Given the description of an element on the screen output the (x, y) to click on. 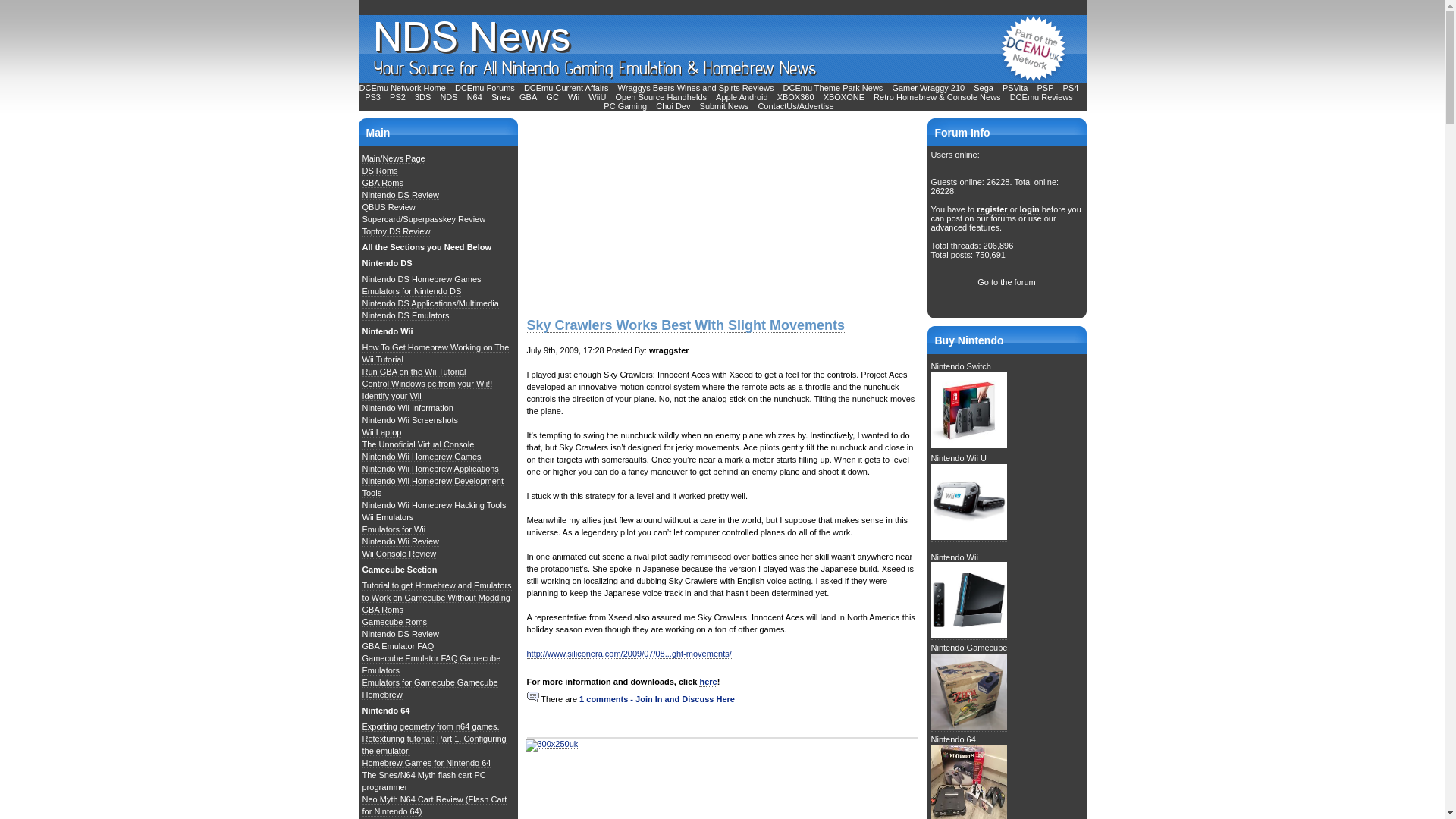
GBA (528, 97)
Nintendo DS Review (400, 194)
NDS (448, 97)
DCEmu Current Affairs (567, 88)
PC Gaming (625, 106)
Chui Dev (673, 106)
WiiU (596, 97)
Wraggys Beers Wines and Spirts Reviews (695, 88)
Emulators for Nintendo DS (411, 291)
N64 (474, 97)
3DS (422, 97)
Snes (501, 97)
QBUS Review (388, 207)
PSP (1045, 88)
DCEmu Reviews (1041, 97)
